Given the description of an element on the screen output the (x, y) to click on. 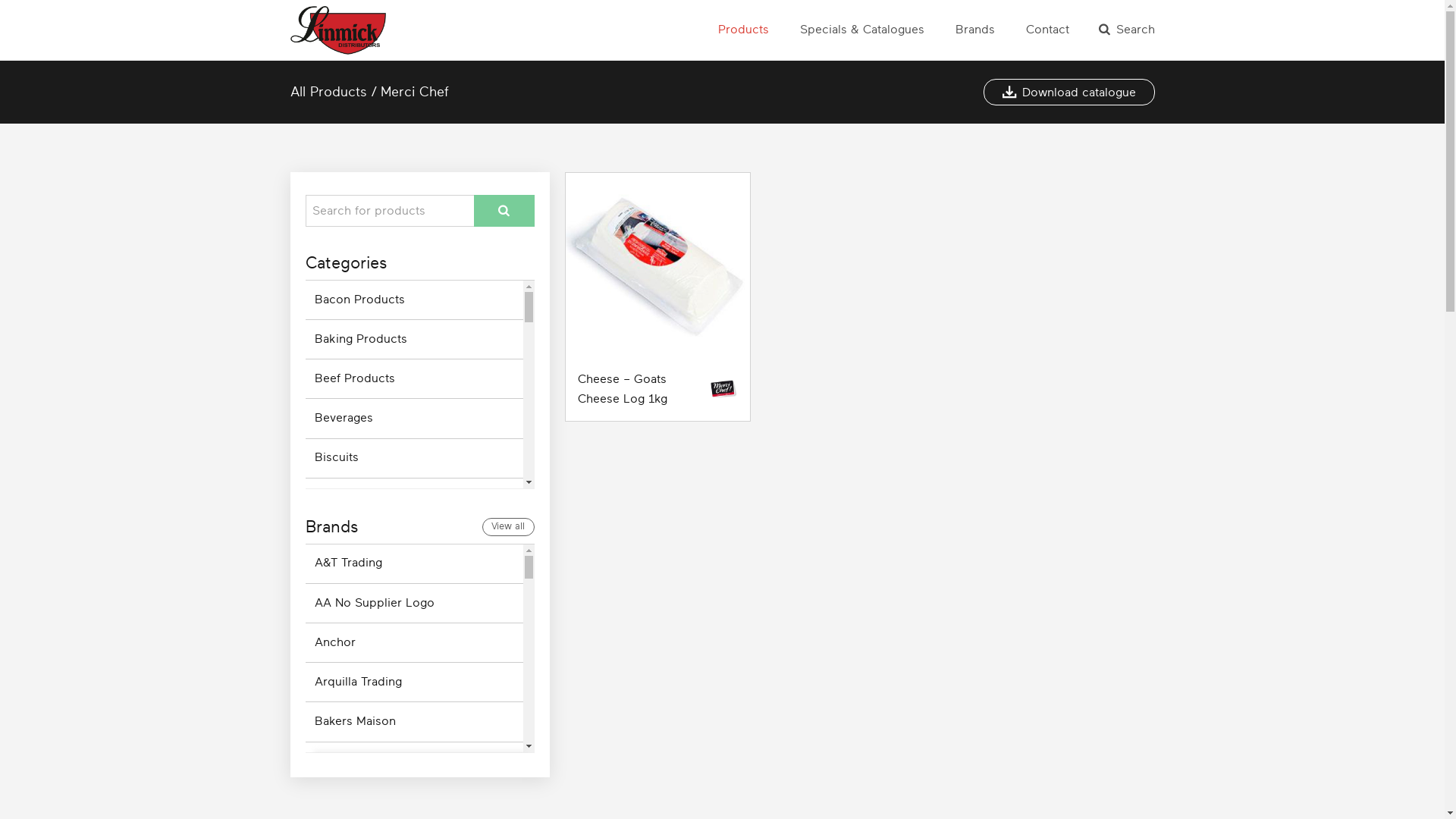
Download catalogue Element type: text (1068, 91)
Frozen Fruit Element type: text (413, 774)
Beverages Element type: text (413, 417)
Products Element type: text (742, 30)
Bakers Maison Element type: text (413, 721)
All Products Element type: text (327, 91)
Baking Products Element type: text (413, 339)
Anchor Element type: text (413, 642)
Brands Element type: text (974, 30)
Bread Element type: text (413, 497)
Contact Element type: text (1046, 30)
Search Element type: text (1126, 29)
Merci Chef Element type: text (414, 91)
Cheese and Dairy Element type: text (413, 615)
Butter / Margarine Element type: text (413, 536)
AA No Supplier Logo Element type: text (413, 602)
Biscuits Element type: text (413, 458)
Canned Products Element type: text (413, 576)
A&T Trading Element type: text (413, 563)
Beef Products Element type: text (413, 378)
View all Element type: text (507, 526)
Bacon Products Element type: text (413, 299)
Balducci Element type: text (413, 761)
Condiments Element type: text (413, 695)
Frozen Fish & Seafood Products Element type: text (413, 734)
Specials & Catalogues Element type: text (861, 30)
Chicken & Poultry Element type: text (413, 656)
Arquilla Trading Element type: text (413, 681)
